Given the description of an element on the screen output the (x, y) to click on. 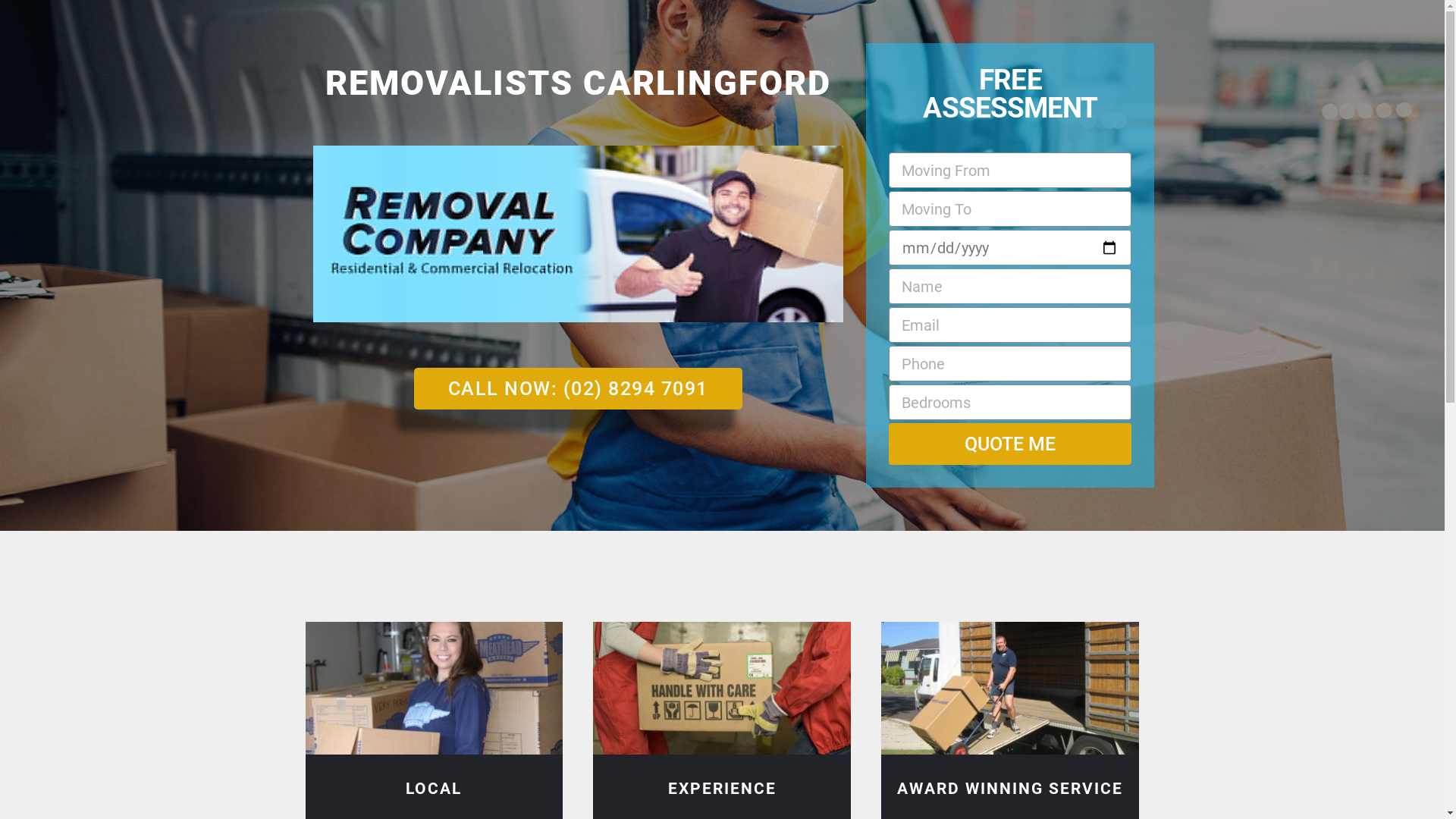
CALL NOW: (02) 8294 7091 Element type: text (578, 388)
Local Removalists Carlingford Element type: hover (433, 687)
Award Winning Removal Services in Carlingford Element type: hover (1010, 687)
Experienced Removalists in Carlingford Element type: hover (721, 687)
QUOTE ME Element type: text (1009, 443)
